Given the description of an element on the screen output the (x, y) to click on. 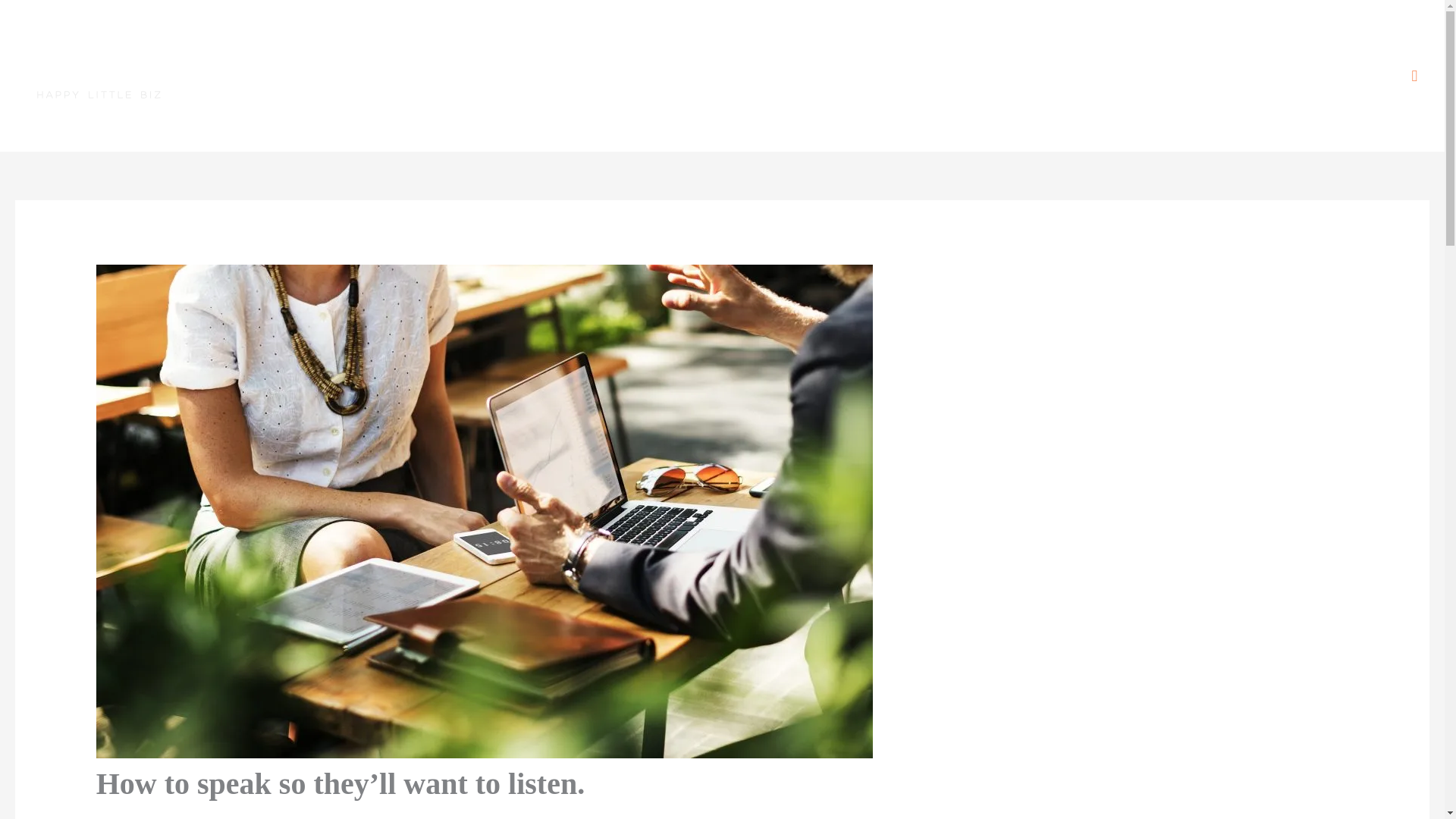
Articles (553, 75)
Podcast (438, 75)
Shop (380, 75)
Book (496, 75)
About (236, 75)
Work With Me (309, 75)
